Given the description of an element on the screen output the (x, y) to click on. 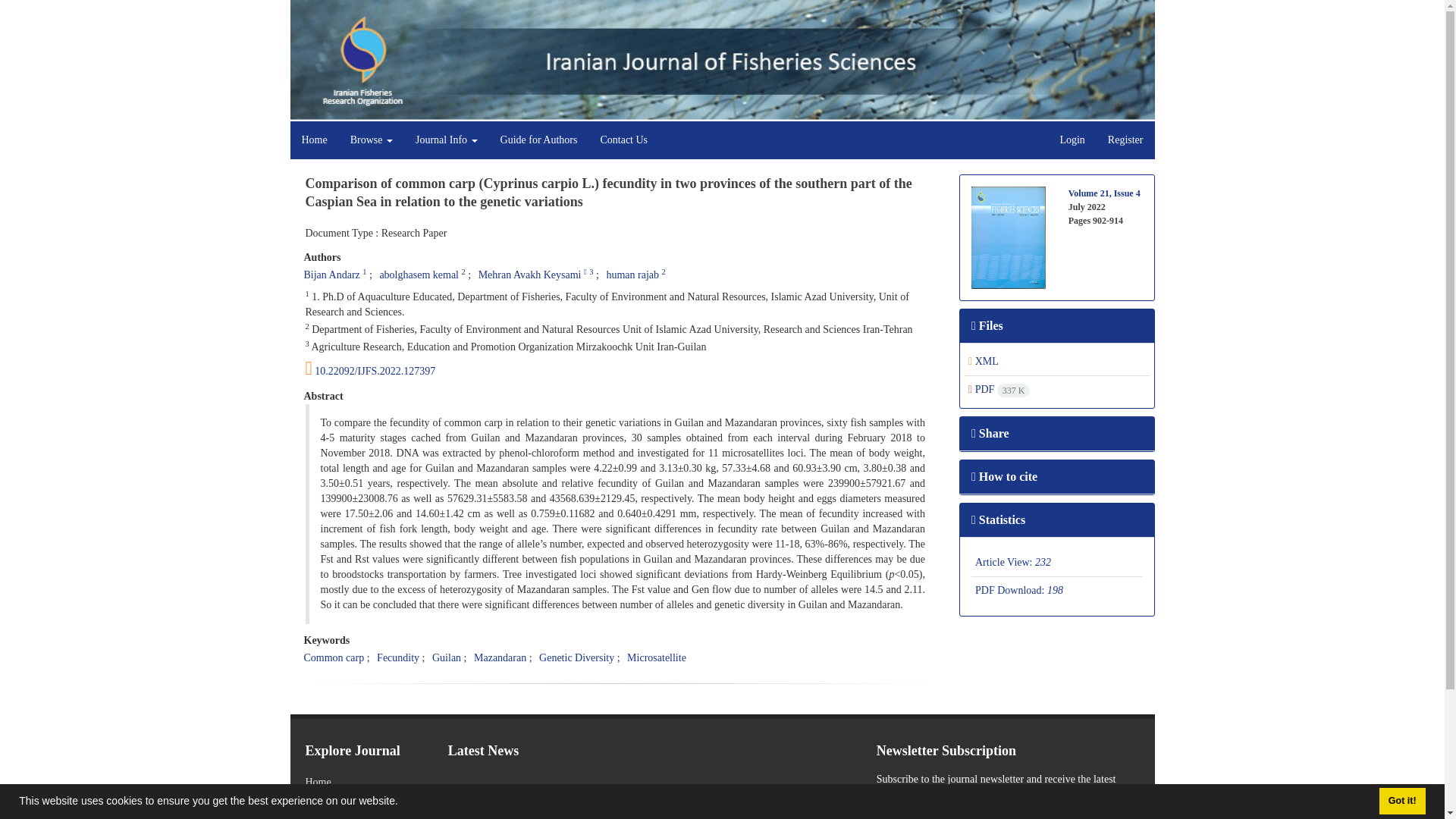
DOI (620, 368)
abolghasem kemal (418, 274)
Mehran Avakh Keysami (529, 274)
Login (1072, 139)
Mazandaran (499, 657)
Bijan Andarz (330, 274)
human rajab (632, 274)
Journal Info (446, 139)
Browse (371, 139)
Contact Us (623, 139)
